Given the description of an element on the screen output the (x, y) to click on. 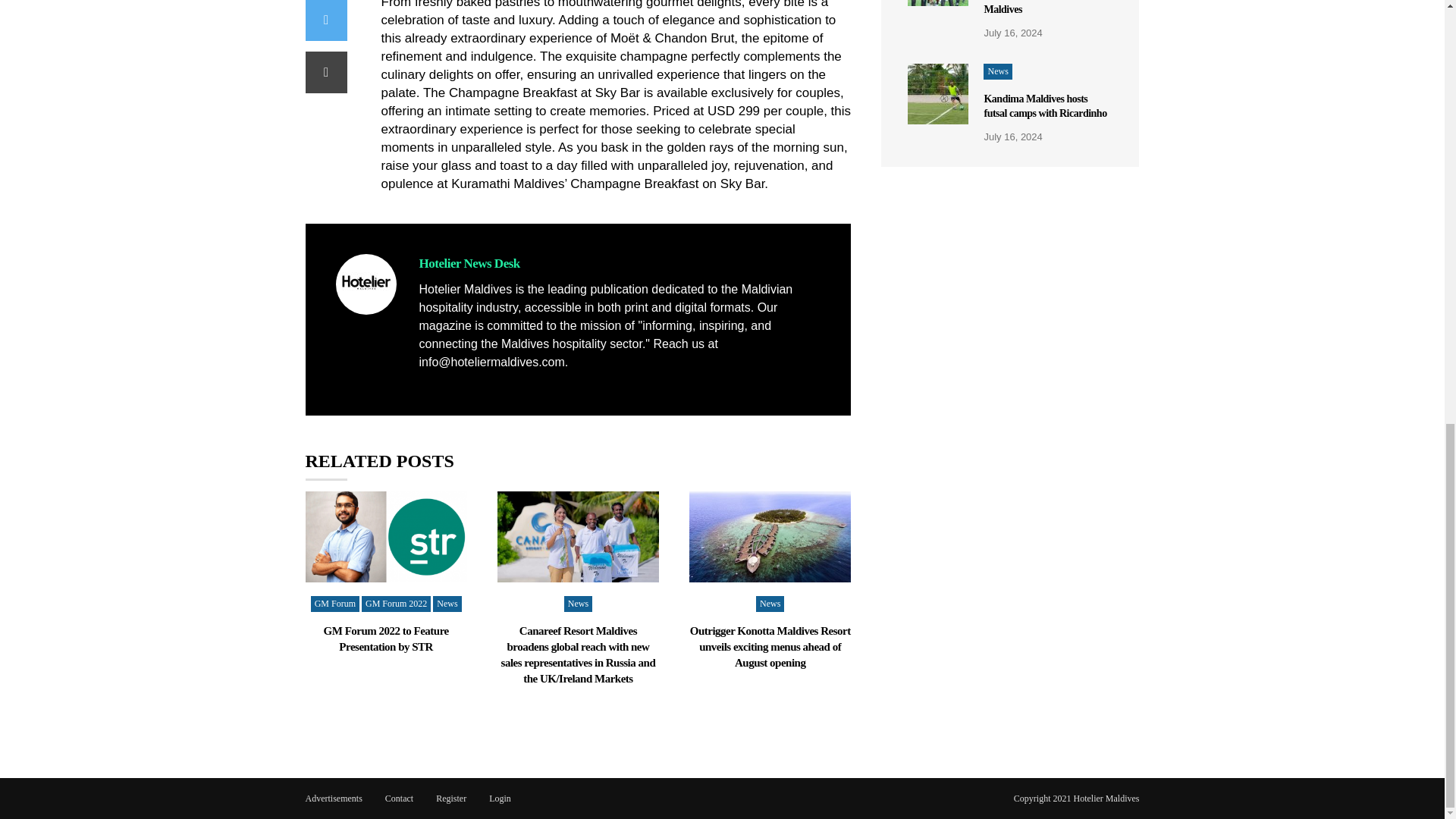
News (578, 603)
GM Forum (335, 603)
News (446, 603)
GM Forum 2022 (395, 603)
Posts by Hotelier News Desk (469, 263)
Hotelier News Desk (469, 263)
GM Forum 2022 to Feature Presentation by STR (385, 638)
